Given the description of an element on the screen output the (x, y) to click on. 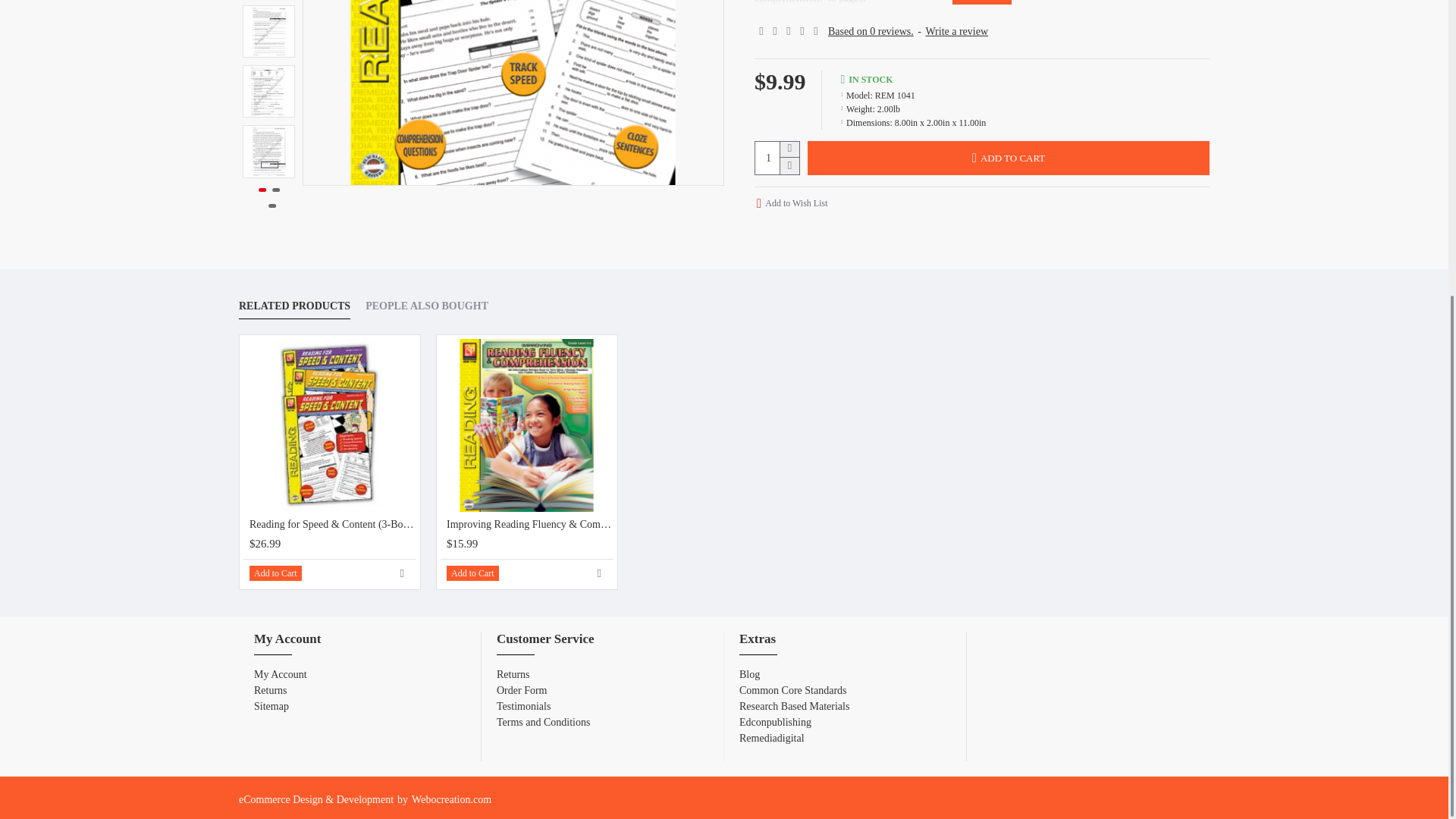
1 (777, 157)
